Given the description of an element on the screen output the (x, y) to click on. 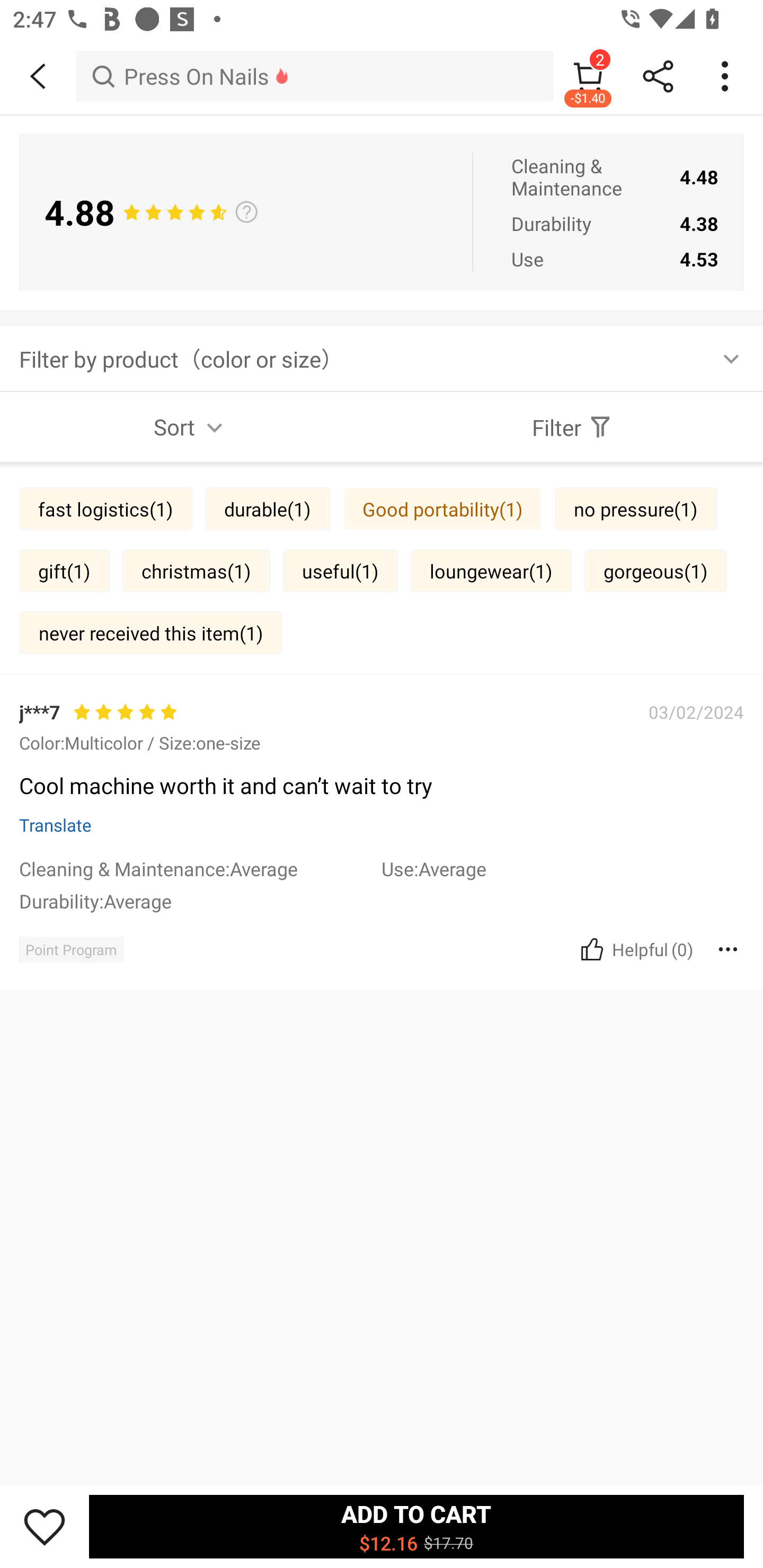
BACK (38, 75)
2 -$1.40 (588, 75)
Press On Nails (314, 75)
Filter by product（color or size） (381, 358)
Sort (190, 427)
Filter (572, 427)
fast logistics(1) (105, 508)
durable(1) (267, 508)
Good portability(1) (442, 508)
no pressure(1) (635, 508)
gift(1) (64, 570)
christmas(1) (196, 570)
useful(1) (340, 570)
loungewear(1) (490, 570)
gorgeous(1) (655, 570)
never received this item(1) (150, 632)
Translate (55, 824)
Cleaning & Maintenance:Average (200, 868)
Use:Average (562, 868)
Durability:Average (200, 900)
Cancel Helpful Was this article helpful? (0) (634, 949)
Point Program (71, 949)
ADD TO CART $12.16 $17.70 (416, 1526)
Save (44, 1526)
